Given the description of an element on the screen output the (x, y) to click on. 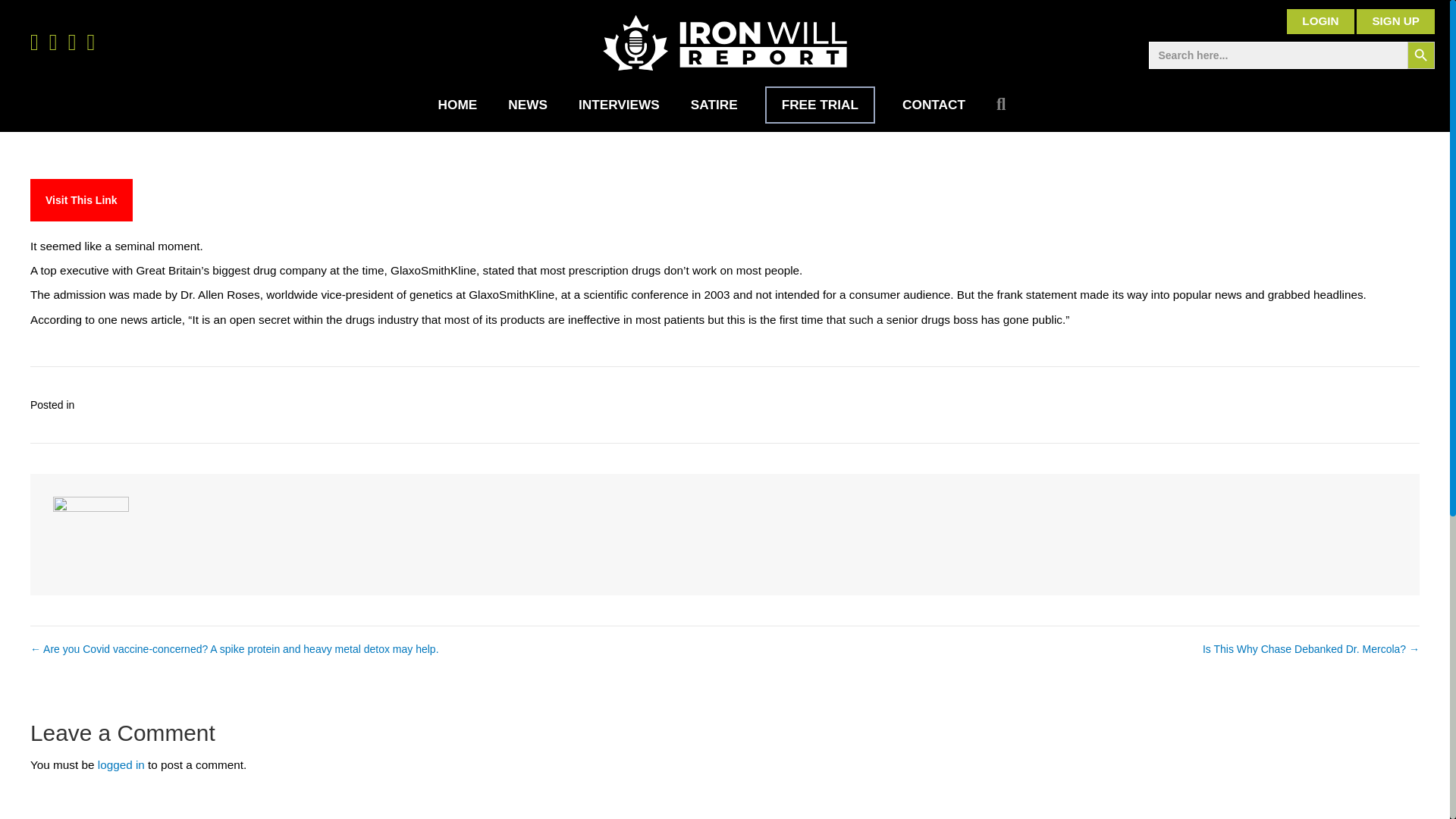
Search Button (1420, 54)
NEWS (527, 104)
FREE TRIAL (820, 104)
SIGN UP (1395, 21)
INTERVIEWS (619, 104)
HOME (458, 104)
SATIRE (713, 104)
CONTACT (932, 104)
Search (1003, 104)
new IWR leaf logo for main header on site (724, 42)
LOGIN (1320, 21)
